Given the description of an element on the screen output the (x, y) to click on. 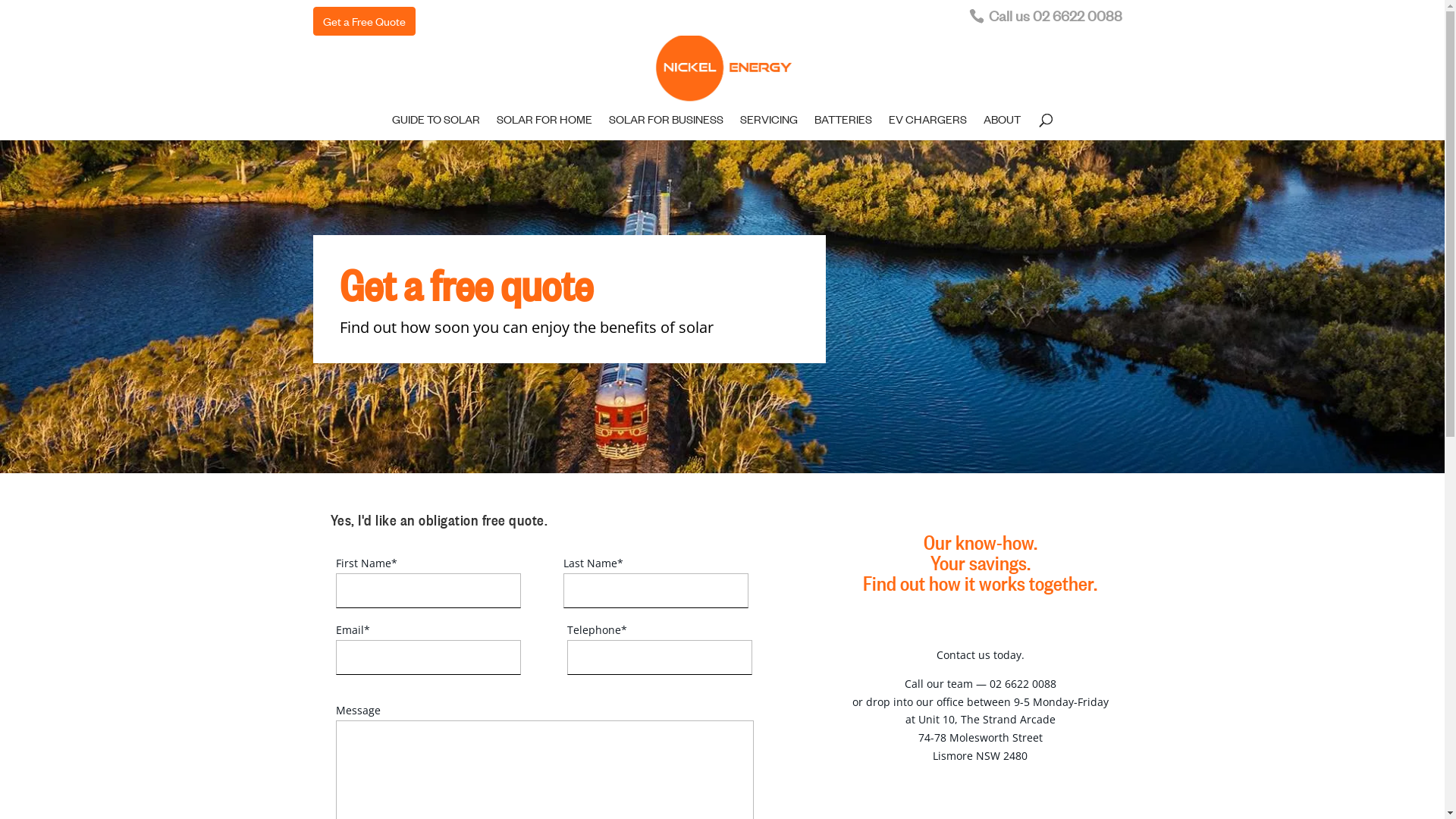
SERVICING Element type: text (768, 126)
SOLAR FOR BUSINESS Element type: text (665, 126)
Get a Free Quote Element type: text (363, 20)
SOLAR FOR HOME Element type: text (544, 126)
ABOUT Element type: text (1001, 126)
GUIDE TO SOLAR Element type: text (436, 126)
BATTERIES Element type: text (843, 126)
Call us 02 6622 0088 Element type: text (1050, 17)
EV CHARGERS Element type: text (927, 126)
